Given the description of an element on the screen output the (x, y) to click on. 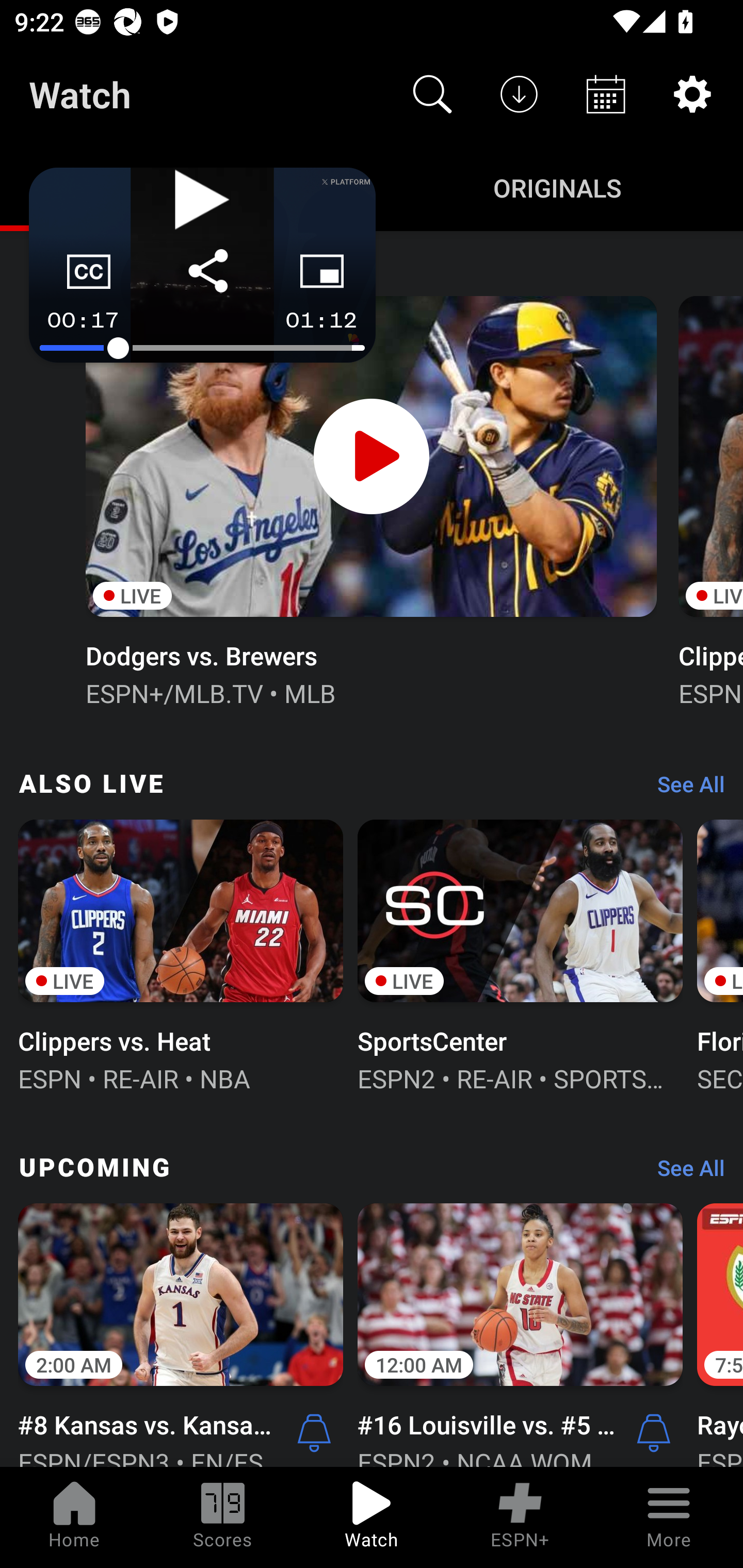
Search (432, 93)
Downloads (518, 93)
Schedule (605, 93)
Settings (692, 93)
Originals ORIGINALS (557, 187)
 LIVE Dodgers vs. Brewers ESPN+/MLB.TV • MLB (370, 499)
See All (683, 788)
LIVE Clippers vs. Heat ESPN • RE-AIR • NBA (180, 954)
LIVE SportsCenter ESPN2 • RE-AIR • SPORTSCENTER (519, 954)
See All (683, 1172)
Alerts (314, 1432)
Alerts (653, 1432)
Home (74, 1517)
Scores (222, 1517)
ESPN+ (519, 1517)
More (668, 1517)
